Given the description of an element on the screen output the (x, y) to click on. 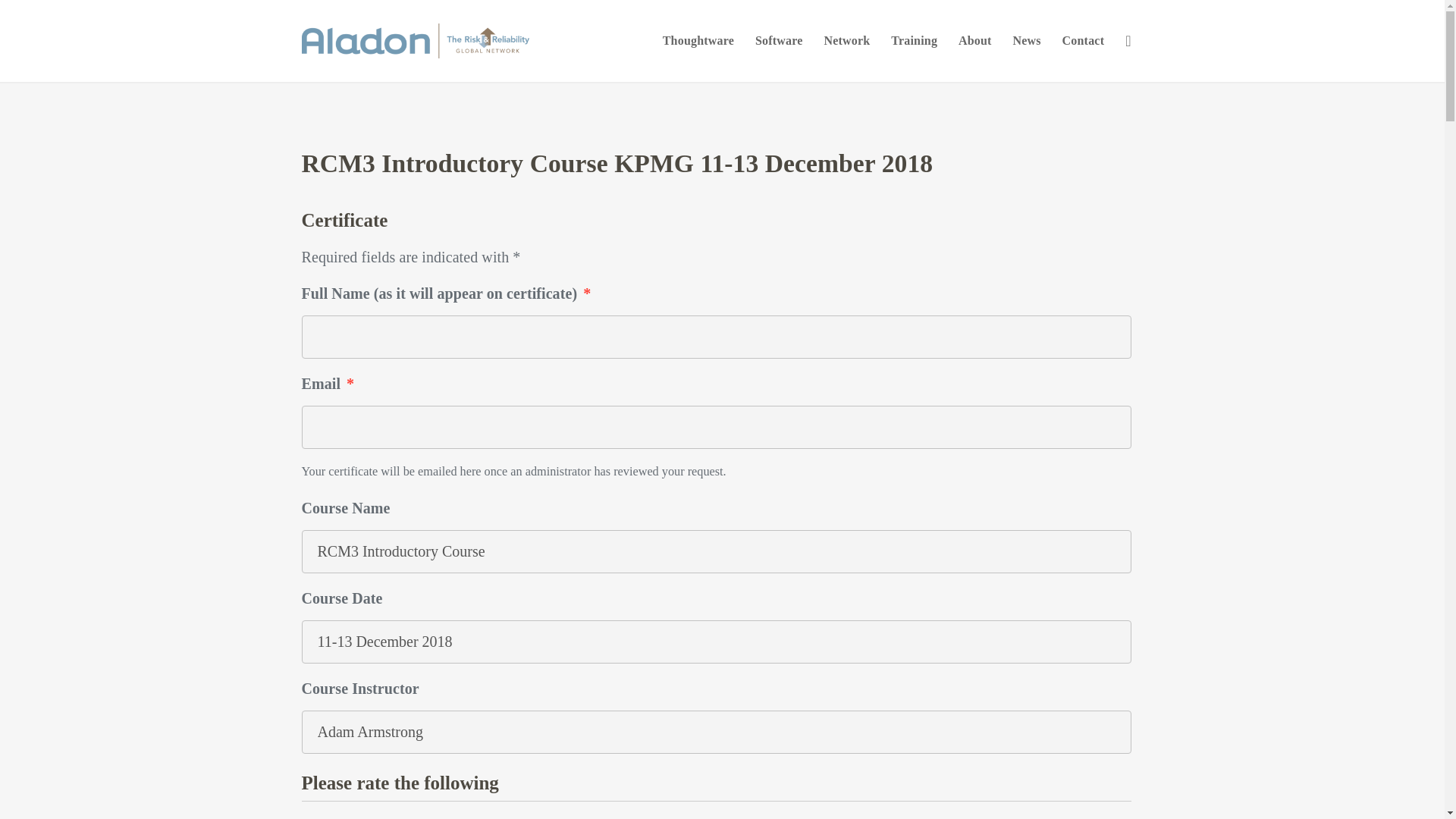
Thoughtware (697, 40)
RCM3 Introductory Course (716, 551)
Adam Armstrong (716, 731)
11-13 December 2018 (716, 641)
